Given the description of an element on the screen output the (x, y) to click on. 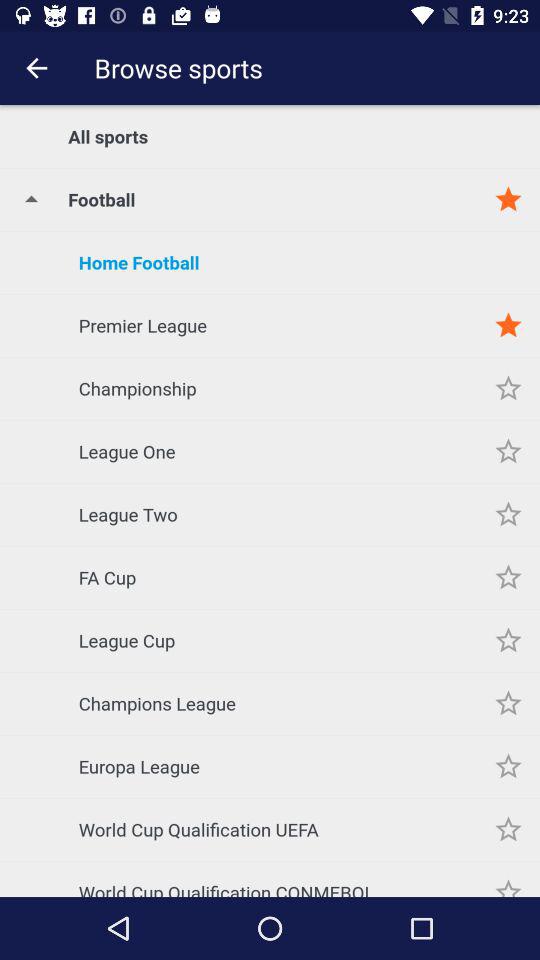
favorite this selection (508, 388)
